Given the description of an element on the screen output the (x, y) to click on. 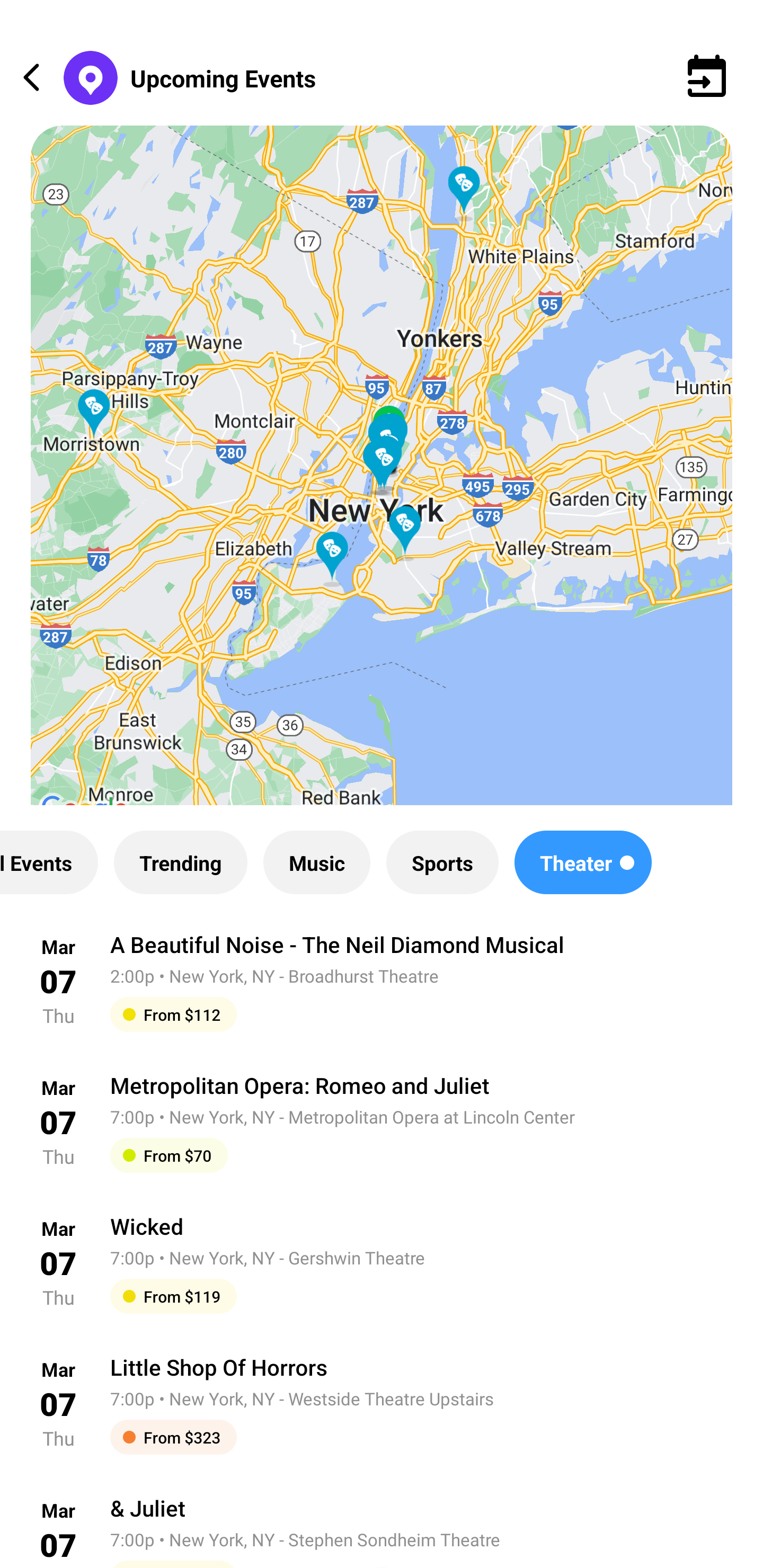
Trending (180, 862)
Music (316, 862)
Sports (442, 862)
Theater (582, 862)
